Given the description of an element on the screen output the (x, y) to click on. 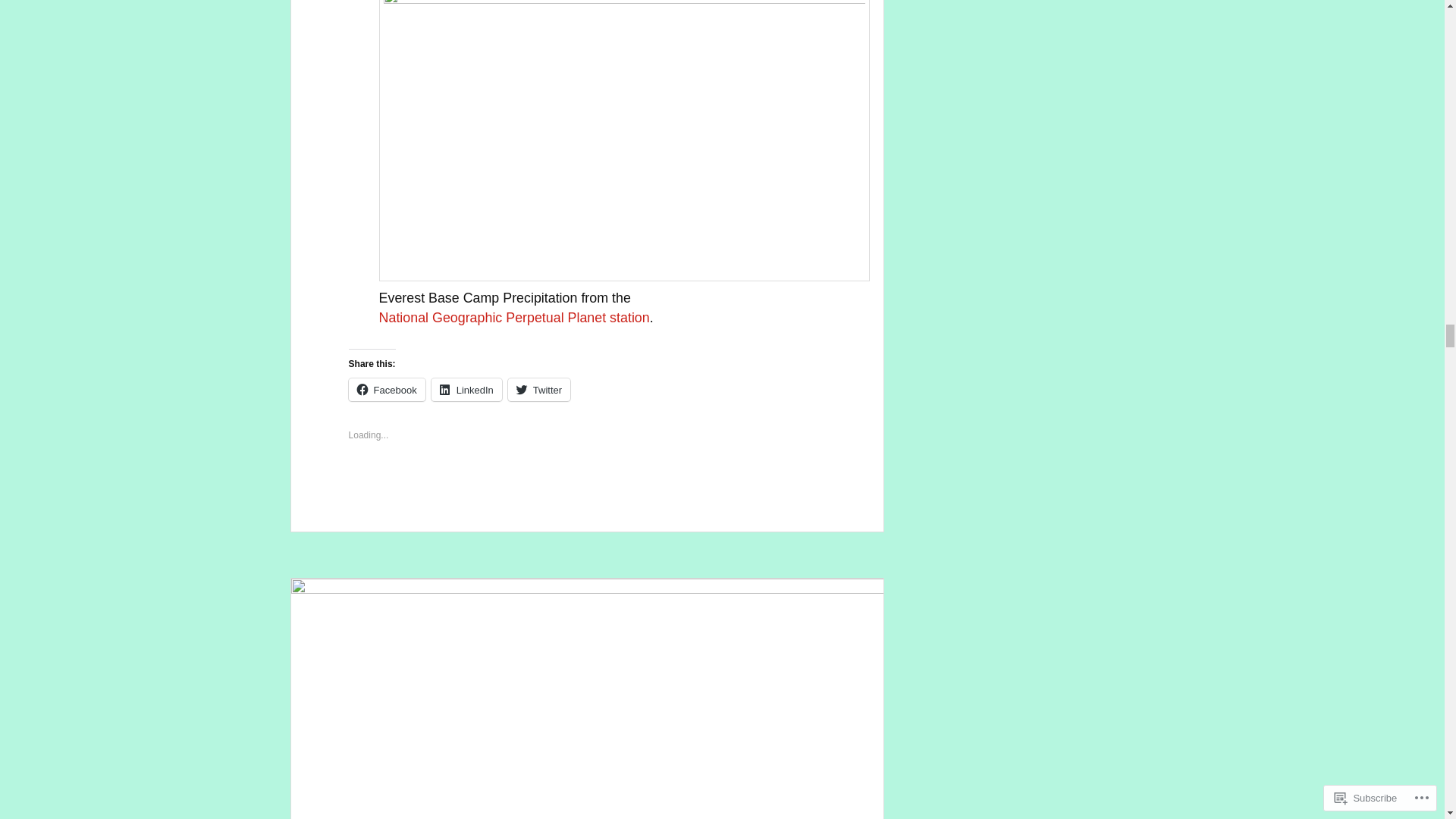
Click to share on Facebook (387, 389)
